Given the description of an element on the screen output the (x, y) to click on. 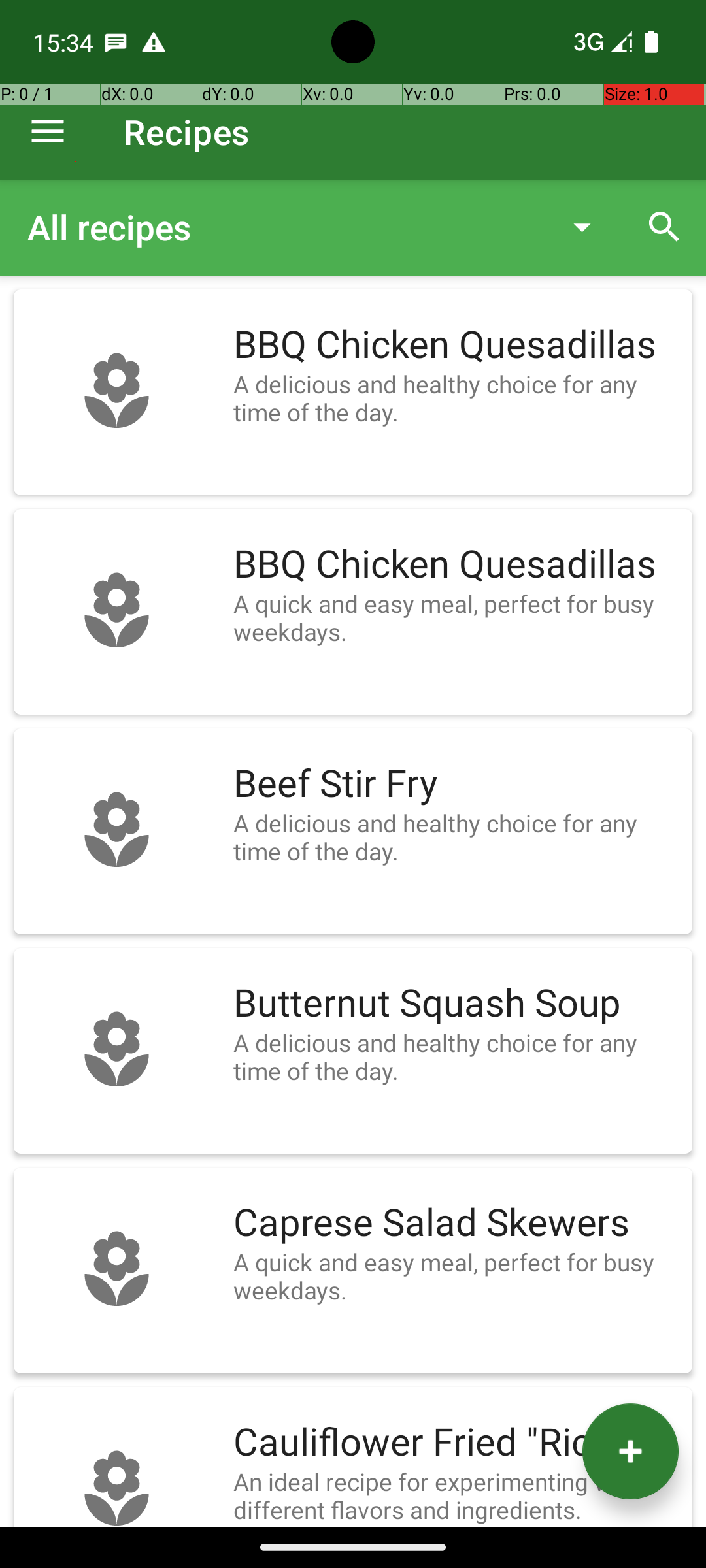
All recipes Element type: android.widget.TextView (283, 226)
BBQ Chicken Quesadillas Element type: android.widget.TextView (455, 344)
Beef Stir Fry Element type: android.widget.TextView (455, 783)
Butternut Squash Soup Element type: android.widget.TextView (455, 1003)
Caprese Salad Skewers Element type: android.widget.TextView (455, 1222)
Cauliflower Fried "Rice" Element type: android.widget.TextView (455, 1442)
